Given the description of an element on the screen output the (x, y) to click on. 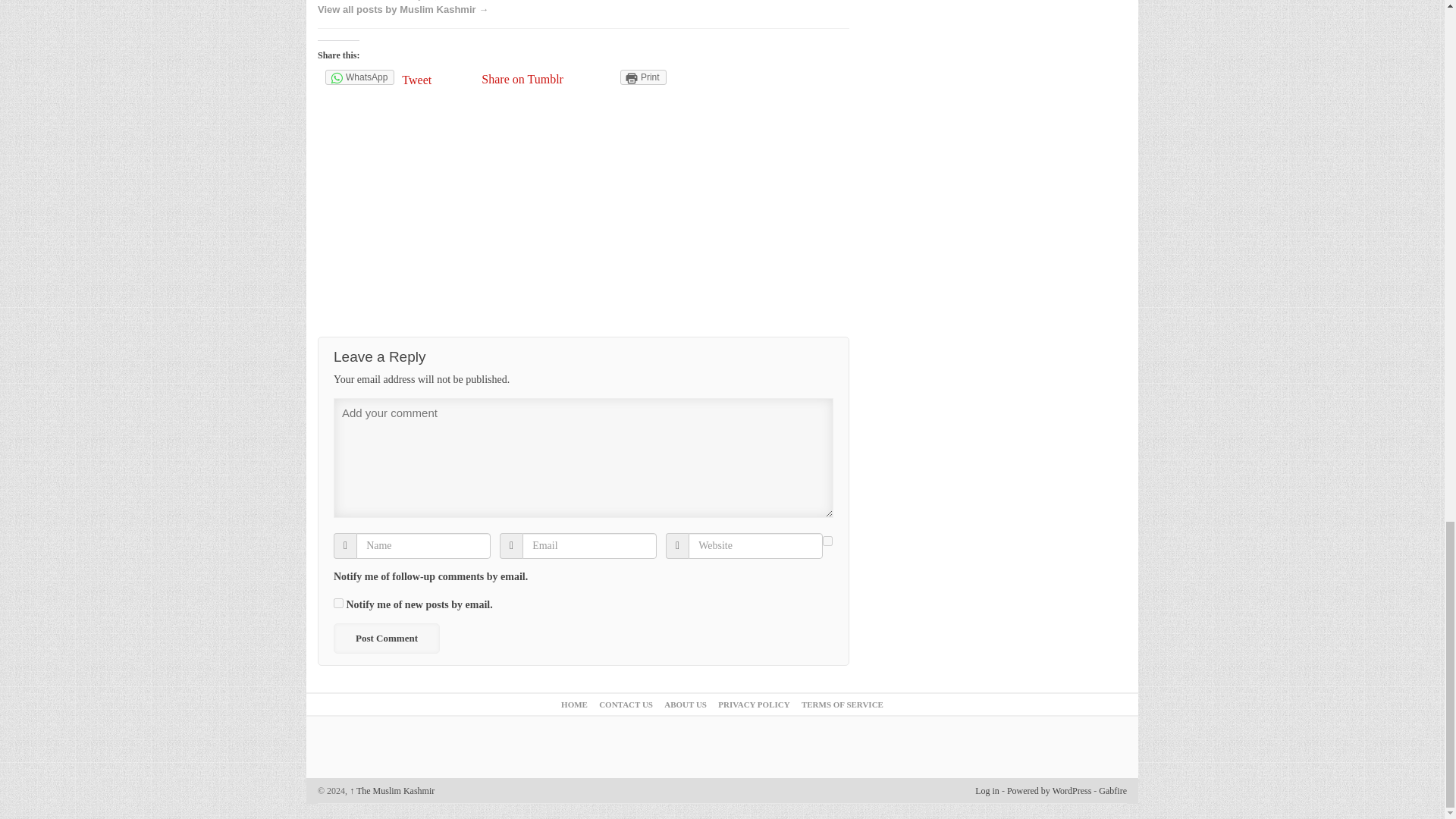
WhatsApp (359, 77)
The Muslim Kashmir (391, 790)
Share on Tumblr (522, 78)
Click to print (643, 77)
Semantic Personal Publishing Platform (1048, 790)
Post Comment (386, 638)
TERMS OF SERVICE (842, 704)
Print (643, 77)
CONTACT US (625, 704)
Post Comment (386, 638)
Gabfire (1112, 790)
Click to share on WhatsApp (359, 77)
subscribe (338, 603)
Gabfire IT Solutions (1112, 790)
HOME (574, 704)
